Given the description of an element on the screen output the (x, y) to click on. 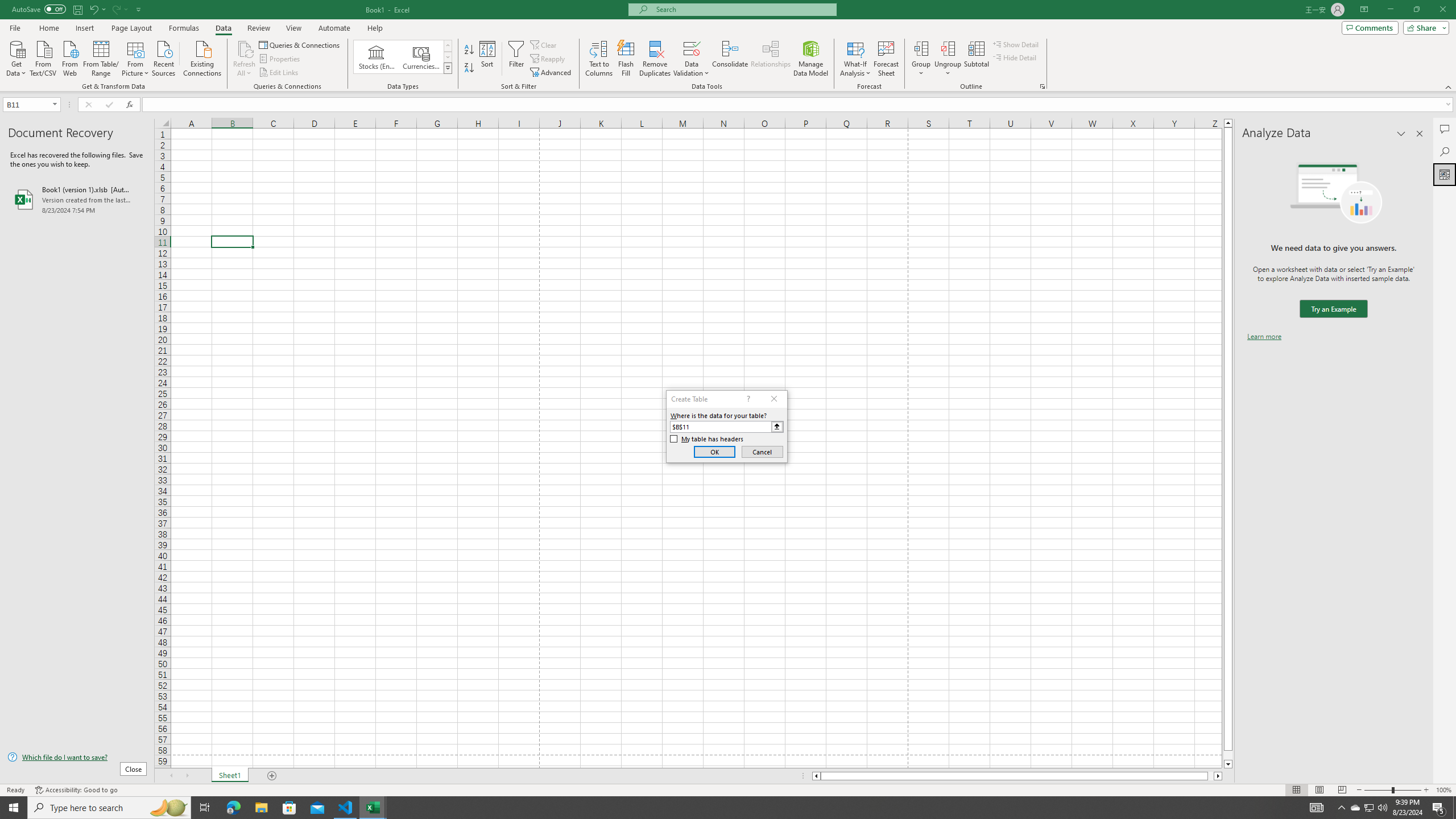
Sort Z to A (469, 67)
Edit Links (279, 72)
Forecast Sheet (885, 58)
AutomationID: ConvertToLinkedEntity (403, 56)
Reapply (548, 58)
Hide Detail (1014, 56)
Group and Outline Settings (1042, 85)
